Given the description of an element on the screen output the (x, y) to click on. 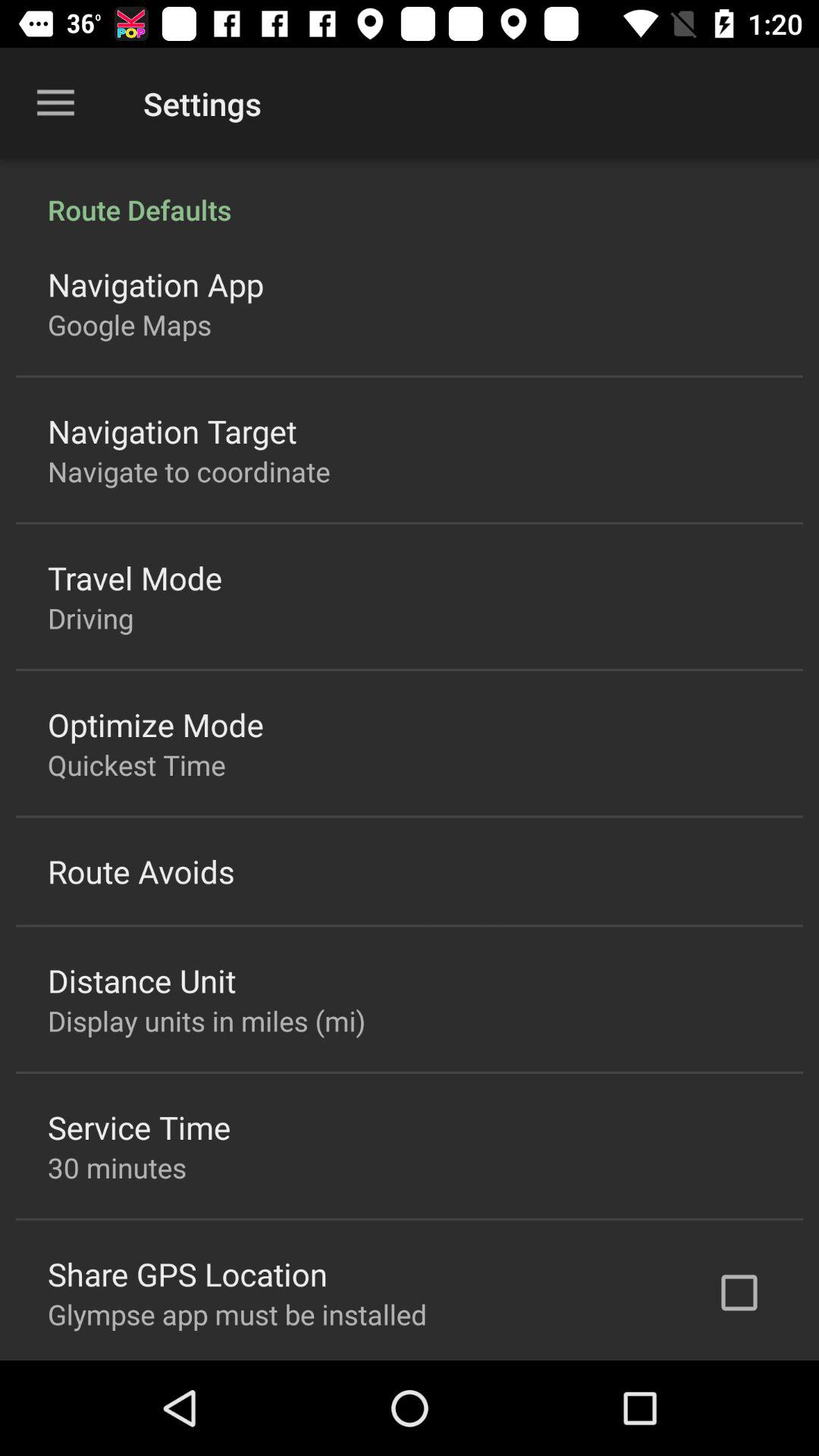
select icon at the bottom right corner (739, 1292)
